Given the description of an element on the screen output the (x, y) to click on. 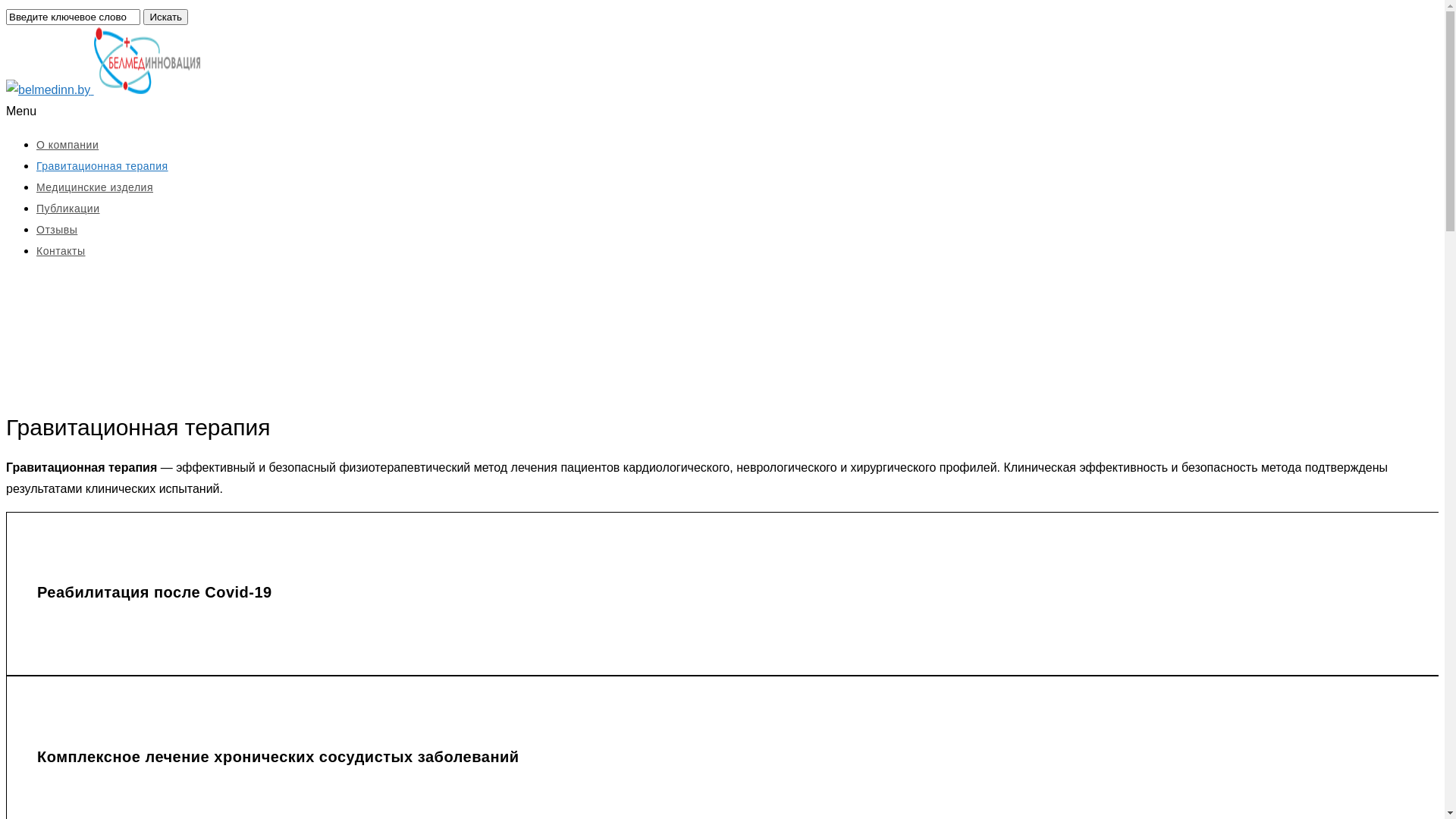
belmedinn.by Element type: hover (103, 89)
belmedinn.by Element type: hover (48, 89)
belmedinn.by Element type: hover (147, 60)
